Given the description of an element on the screen output the (x, y) to click on. 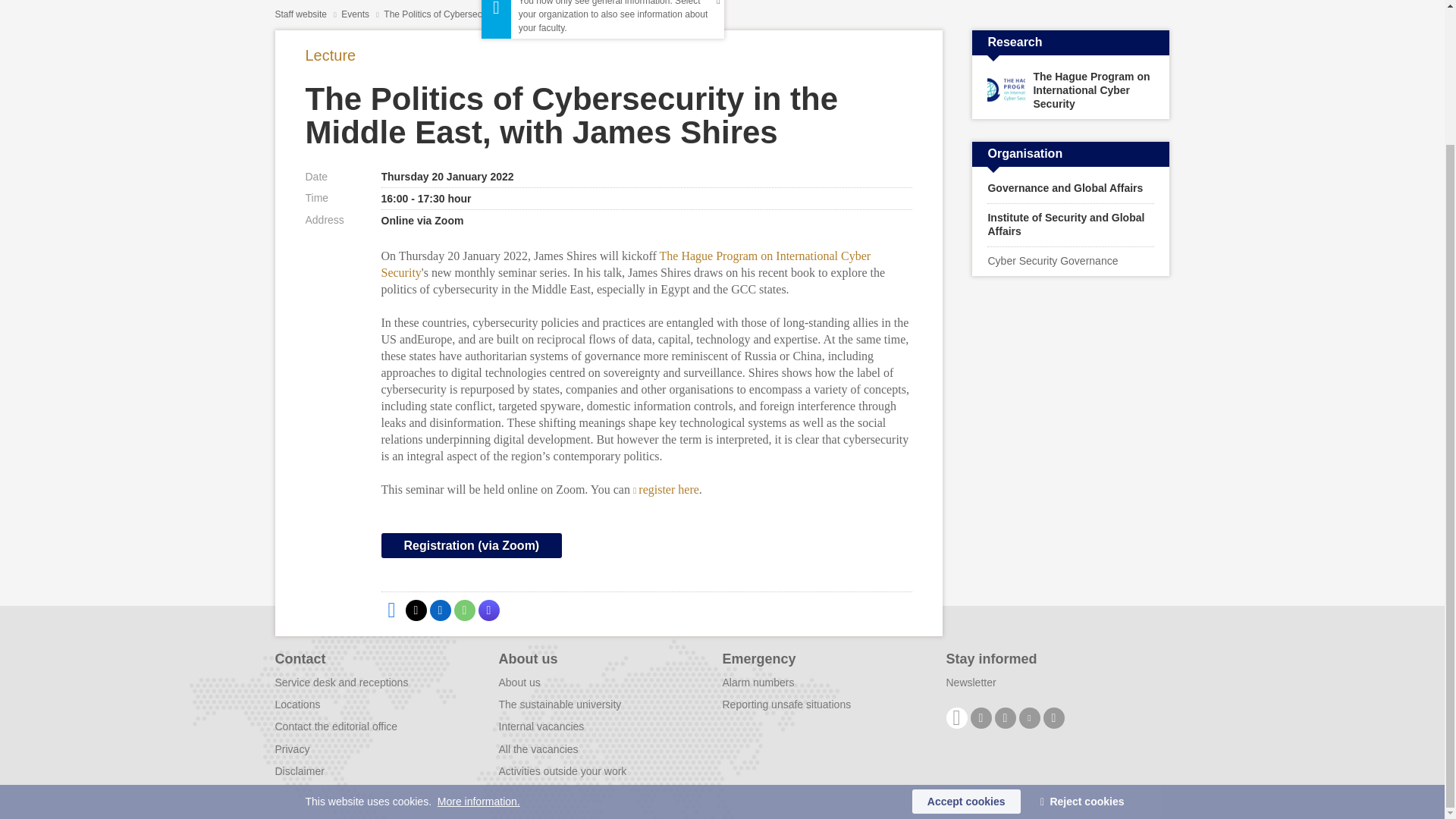
Share by Mastodon (488, 609)
Share on LinkedIn (439, 609)
Share on Facebook (390, 609)
Share on X (415, 609)
Share by WhatsApp (463, 609)
